Given the description of an element on the screen output the (x, y) to click on. 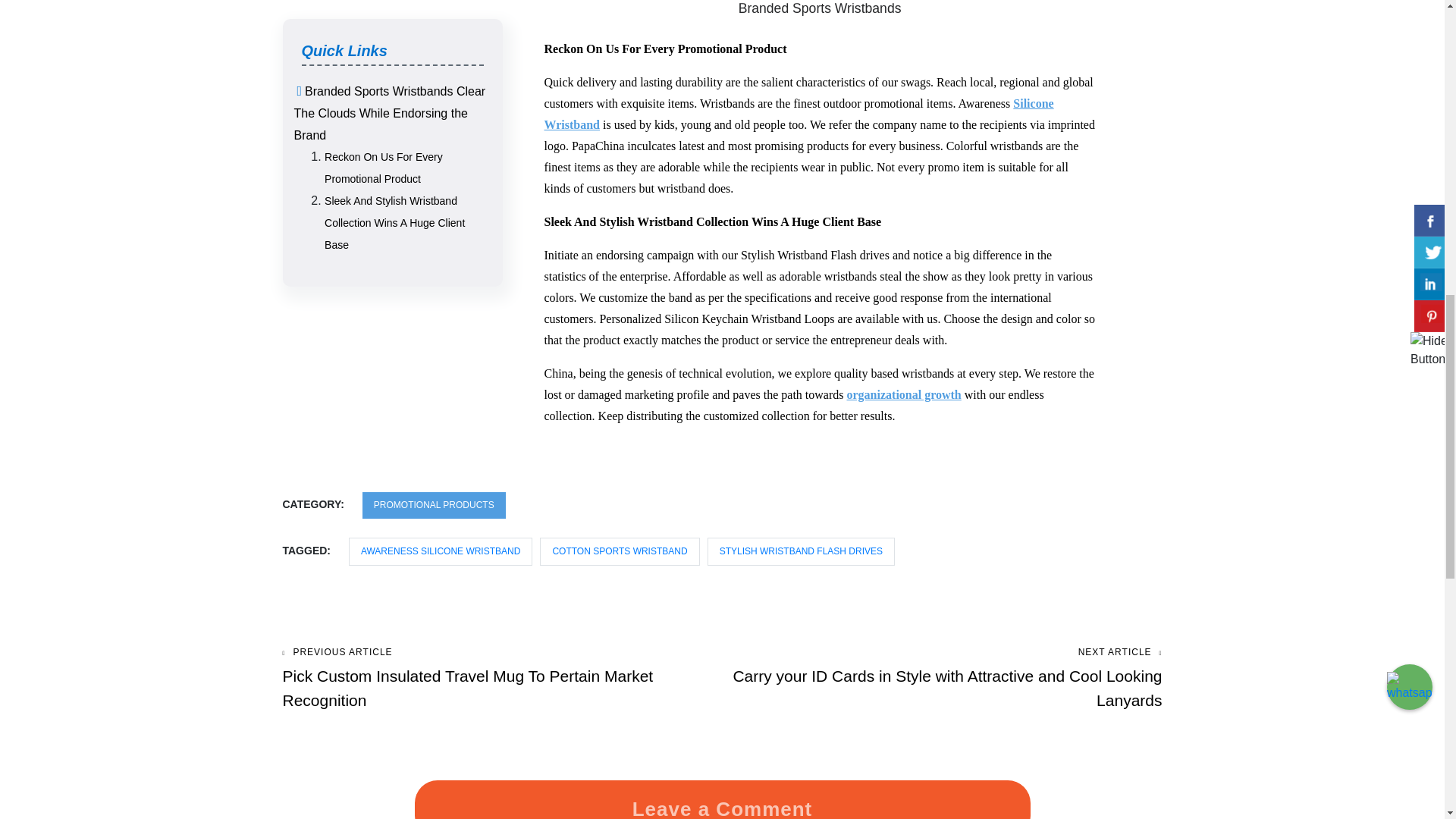
COTTON SPORTS WRISTBAND (619, 574)
organizational growth (902, 418)
STYLISH WRISTBAND FLASH DRIVES (801, 574)
Silicone Wristband (799, 137)
AWARENESS SILICONE WRISTBAND (440, 574)
PROMOTIONAL PRODUCTS (433, 528)
